Given the description of an element on the screen output the (x, y) to click on. 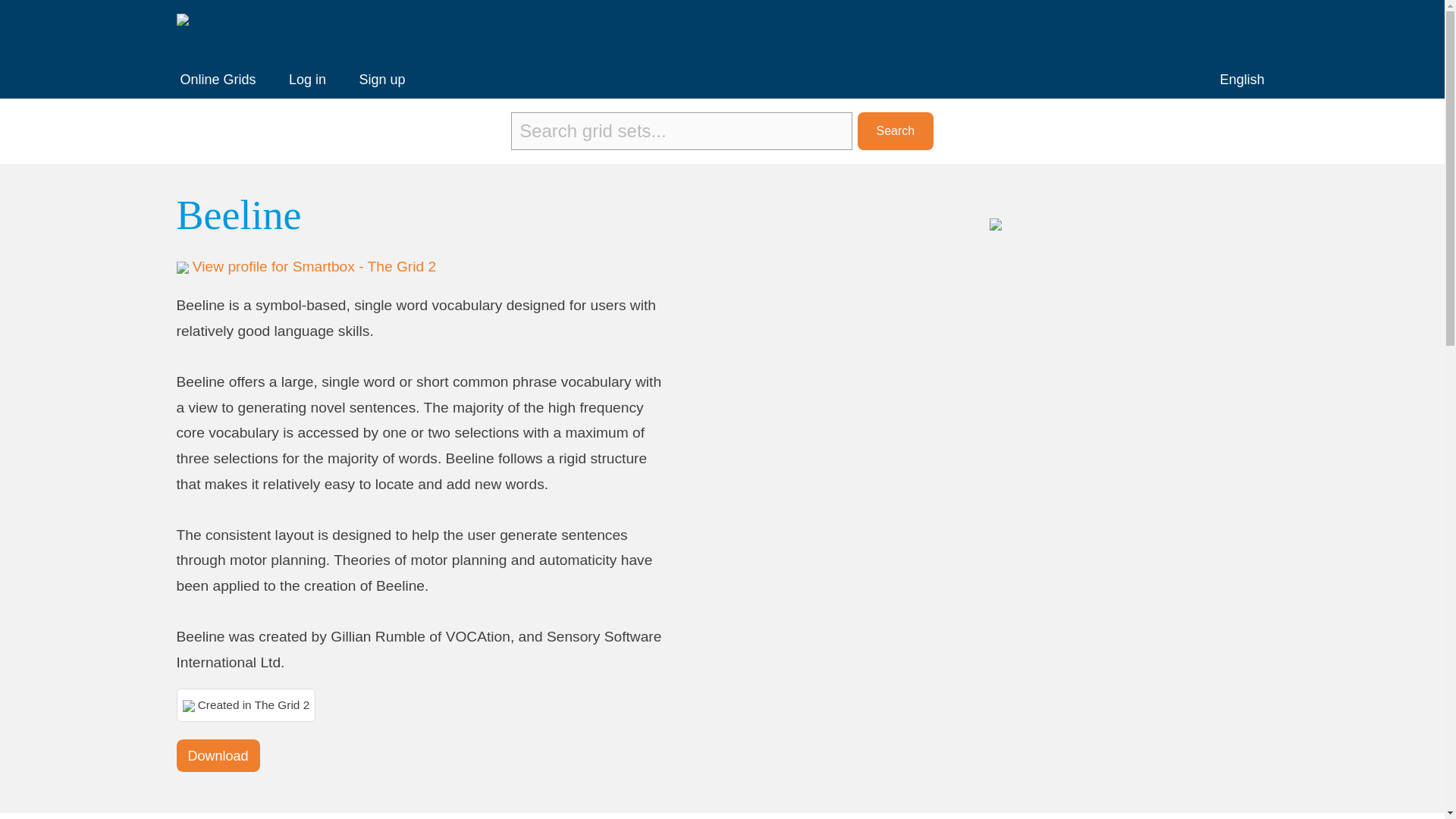
Sign up (381, 79)
View profile for Smartbox - The Grid 2 (313, 266)
Linked in (1249, 28)
Log in (307, 79)
Search (895, 130)
Search (895, 130)
Online Grids (218, 79)
Twitter (1213, 28)
Download (217, 755)
English (1241, 79)
